Given the description of an element on the screen output the (x, y) to click on. 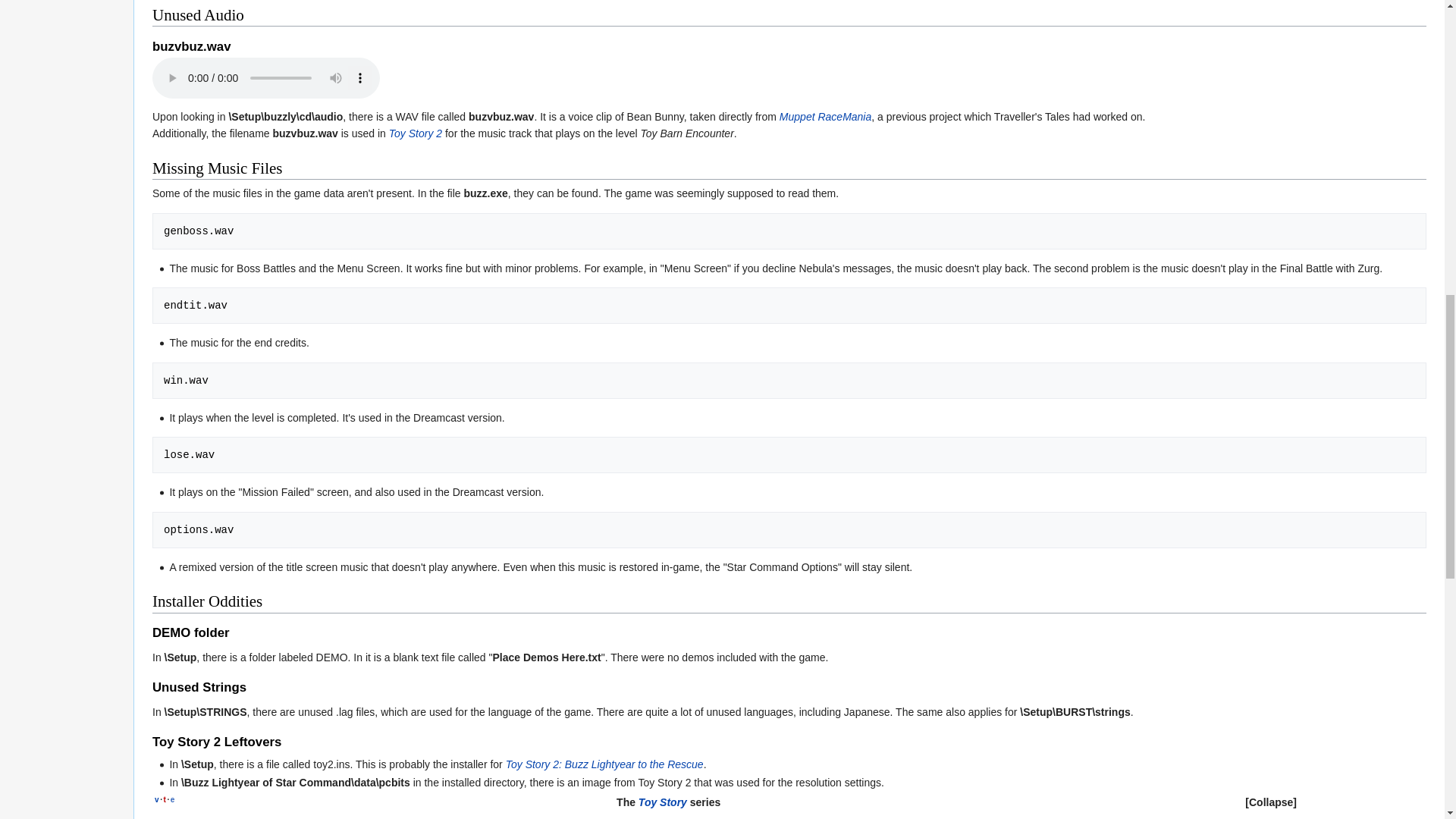
Toy Story 2: Buzz Lightyear to the Rescue (604, 764)
Toy Story 2 (415, 133)
Muppet RaceMania (824, 116)
Toy Story (462, 817)
Muppet RaceMania (824, 116)
Toy Story (663, 802)
